Given the description of an element on the screen output the (x, y) to click on. 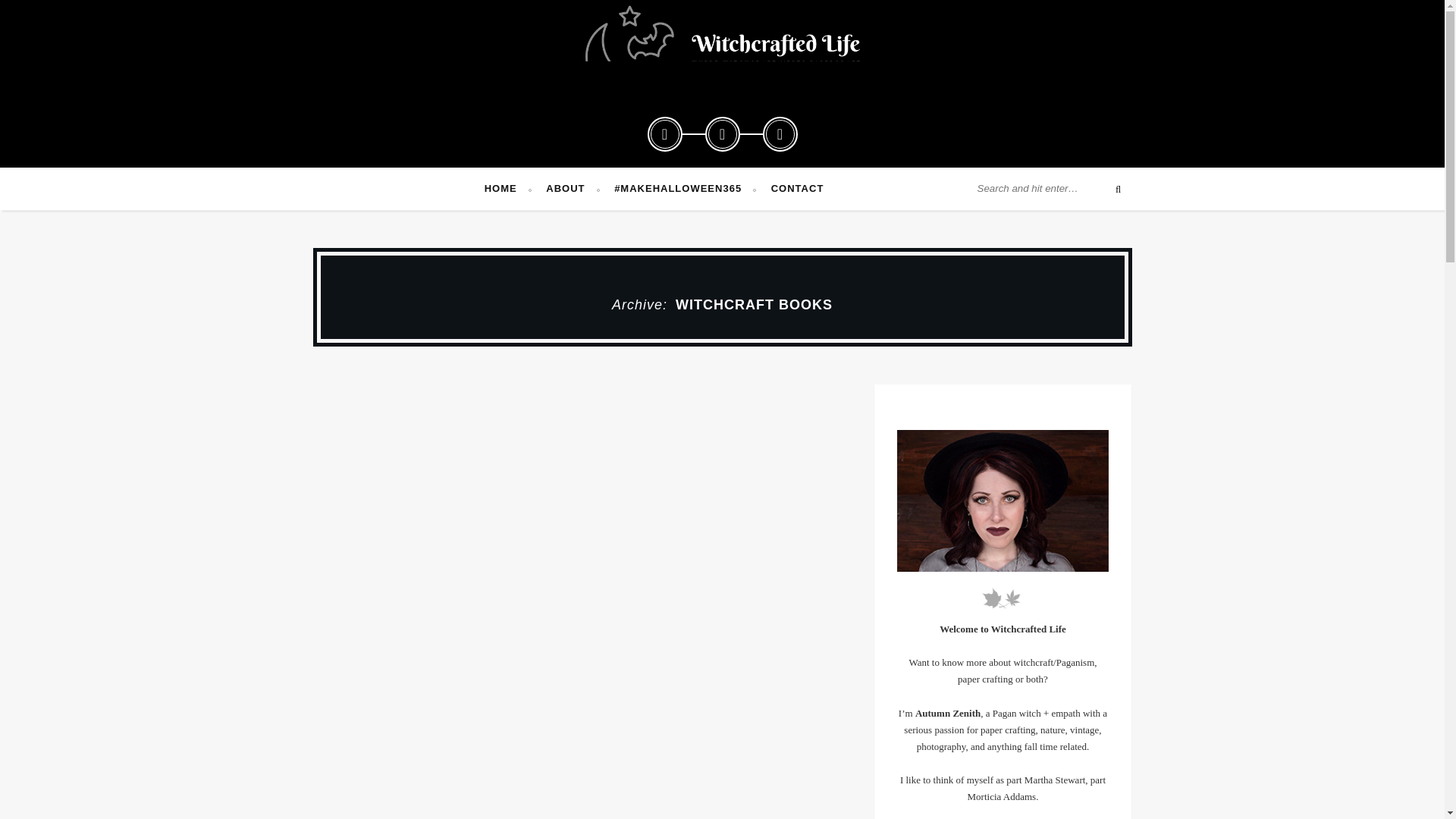
Twitter (664, 134)
CONTACT (797, 188)
Search for: (1047, 188)
HOME (507, 188)
Instagram (779, 134)
ABOUT (572, 188)
Pinterest (721, 134)
